Given the description of an element on the screen output the (x, y) to click on. 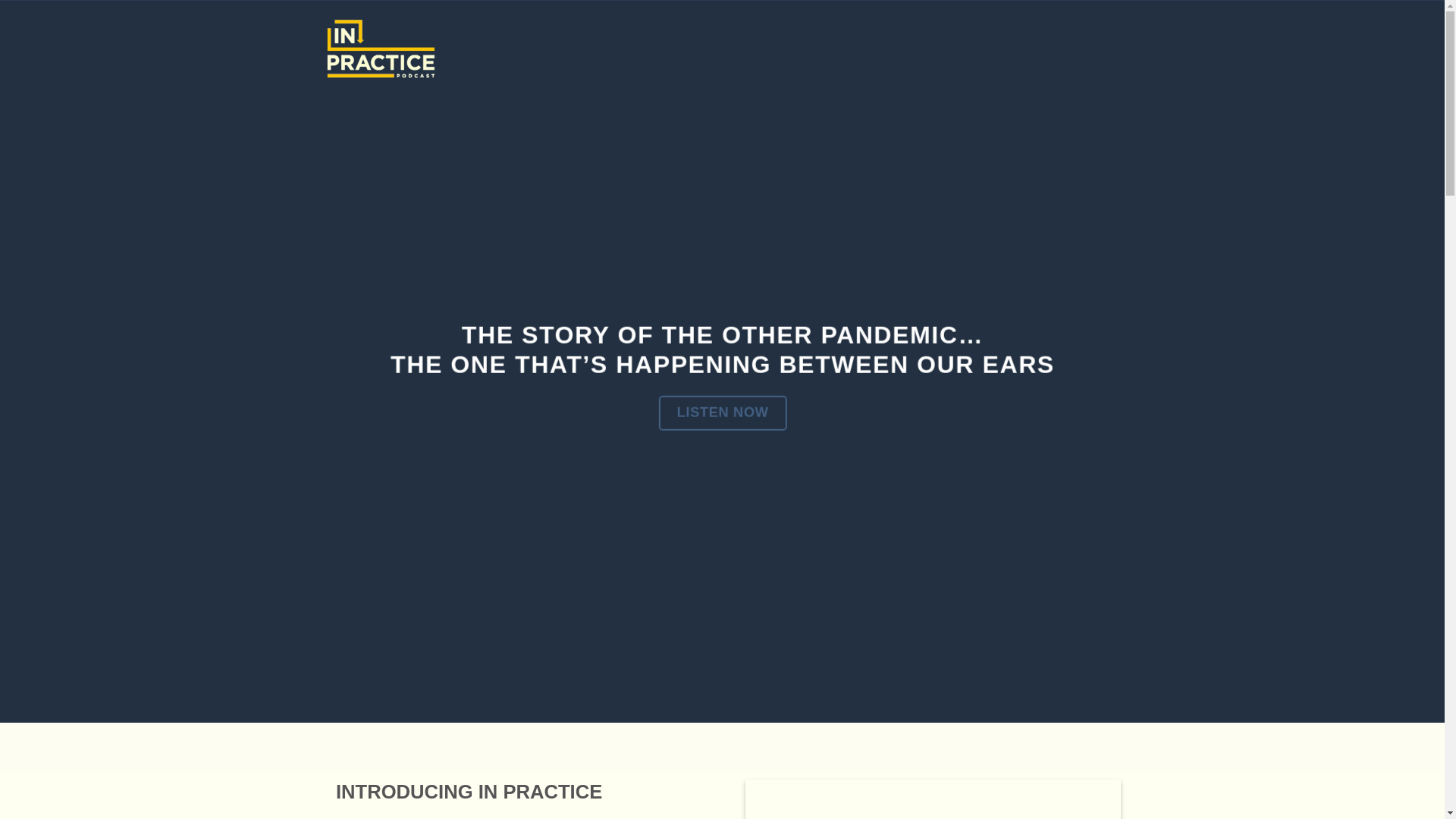
IP - Teaser - Draft 2 (931, 799)
LISTEN NOW (722, 412)
